Given the description of an element on the screen output the (x, y) to click on. 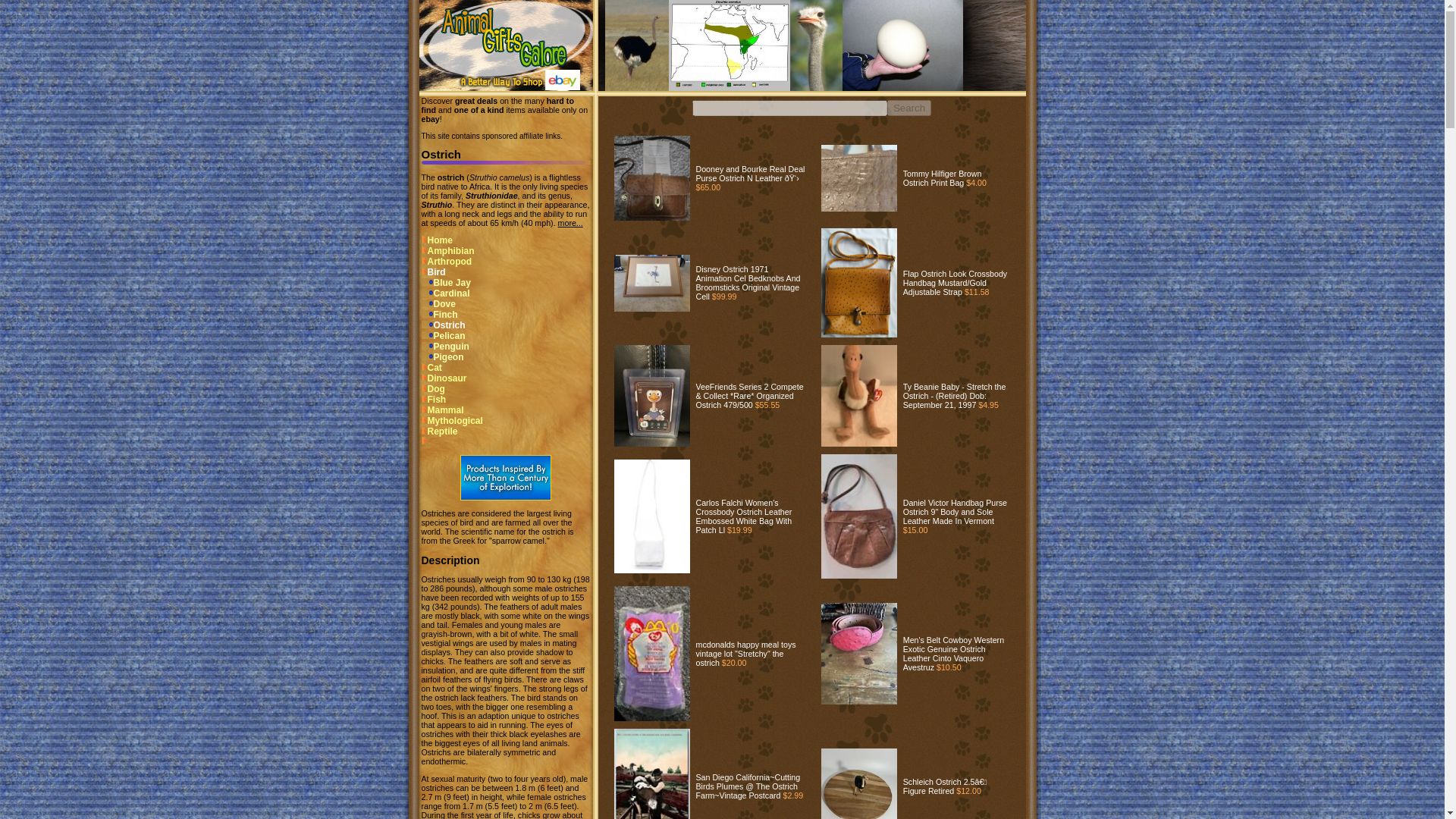
Arthropod (446, 261)
Blue Jay (446, 282)
Mammal (443, 409)
Dinosaur (444, 378)
Cardinal (446, 293)
Dove (438, 303)
Amphibian (448, 250)
An ostrich egg (901, 45)
Fish (434, 398)
Pigeon (443, 357)
Penguin (445, 346)
Reptile (440, 430)
Bird (433, 271)
Search (908, 107)
